Given the description of an element on the screen output the (x, y) to click on. 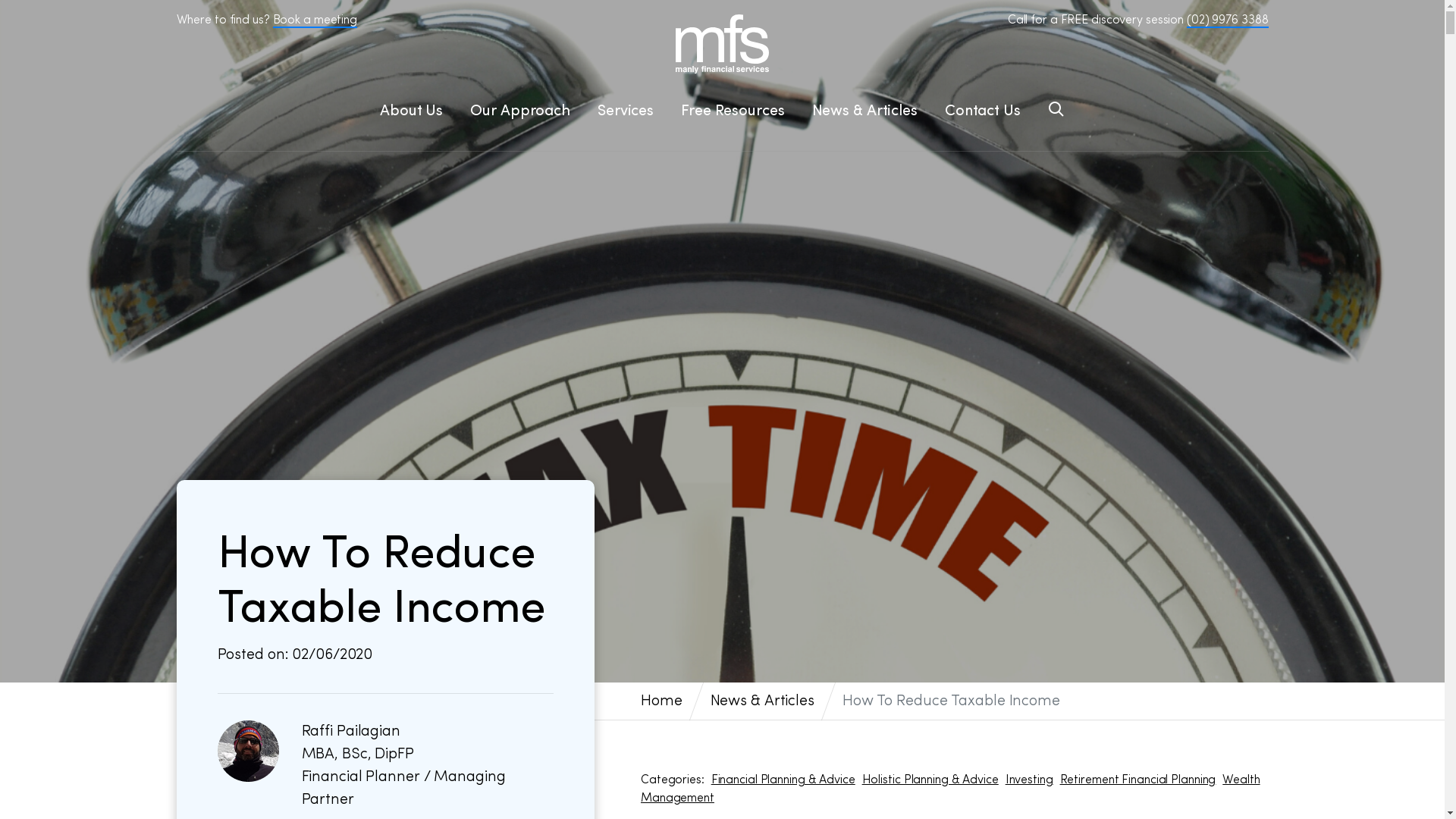
Free Resources Element type: text (732, 111)
News & Articles Element type: text (762, 701)
Services Element type: text (625, 111)
Wealth Management Element type: text (950, 789)
Investing Element type: text (1029, 780)
Where to find us? Element type: text (222, 20)
Book a meeting Element type: text (315, 21)
Financial Planning & Advice Element type: text (783, 780)
Our Approach Element type: text (520, 111)
Holistic Planning & Advice Element type: text (930, 780)
Retirement Financial Planning Element type: text (1138, 780)
Home Element type: text (661, 701)
About Us Element type: text (411, 111)
News & Articles Element type: text (864, 111)
(02) 9976 3388 Element type: text (1226, 21)
Contact Us Element type: text (982, 111)
